Given the description of an element on the screen output the (x, y) to click on. 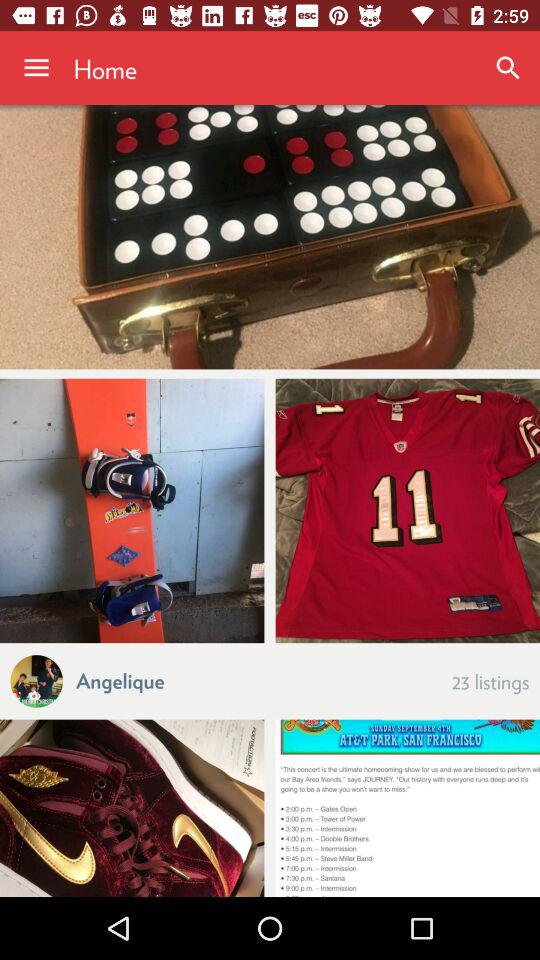
choose item to the left of the home item (36, 68)
